Given the description of an element on the screen output the (x, y) to click on. 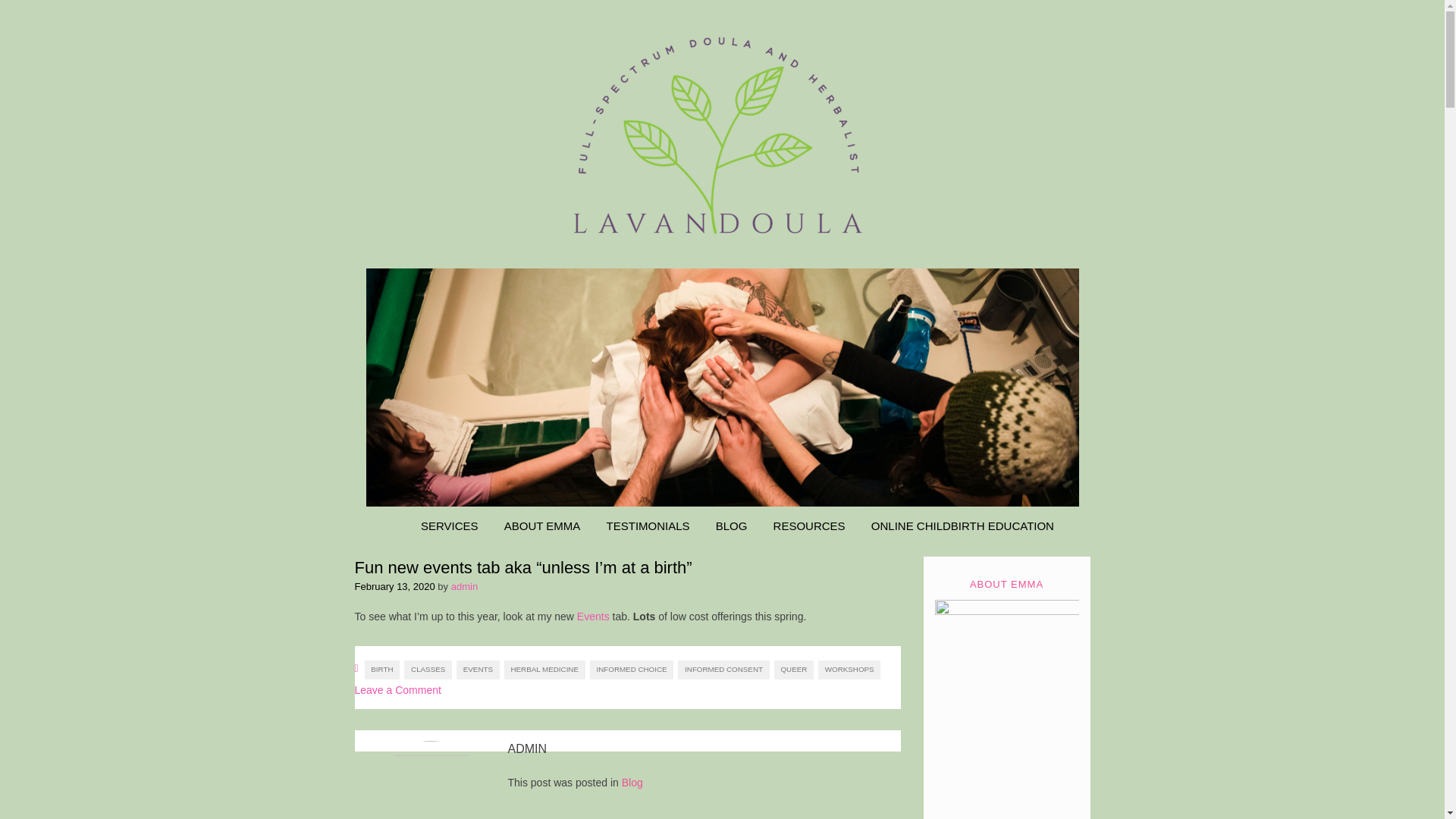
BLOG (731, 525)
WORKSHOPS (849, 669)
TESTIMONIALS (648, 525)
QUEER (793, 669)
ONLINE CHILDBIRTH EDUCATION (962, 525)
ABOUT EMMA (542, 525)
INFORMED CONSENT (724, 669)
BIRTH (382, 669)
Blog (632, 782)
Events (593, 616)
